Given the description of an element on the screen output the (x, y) to click on. 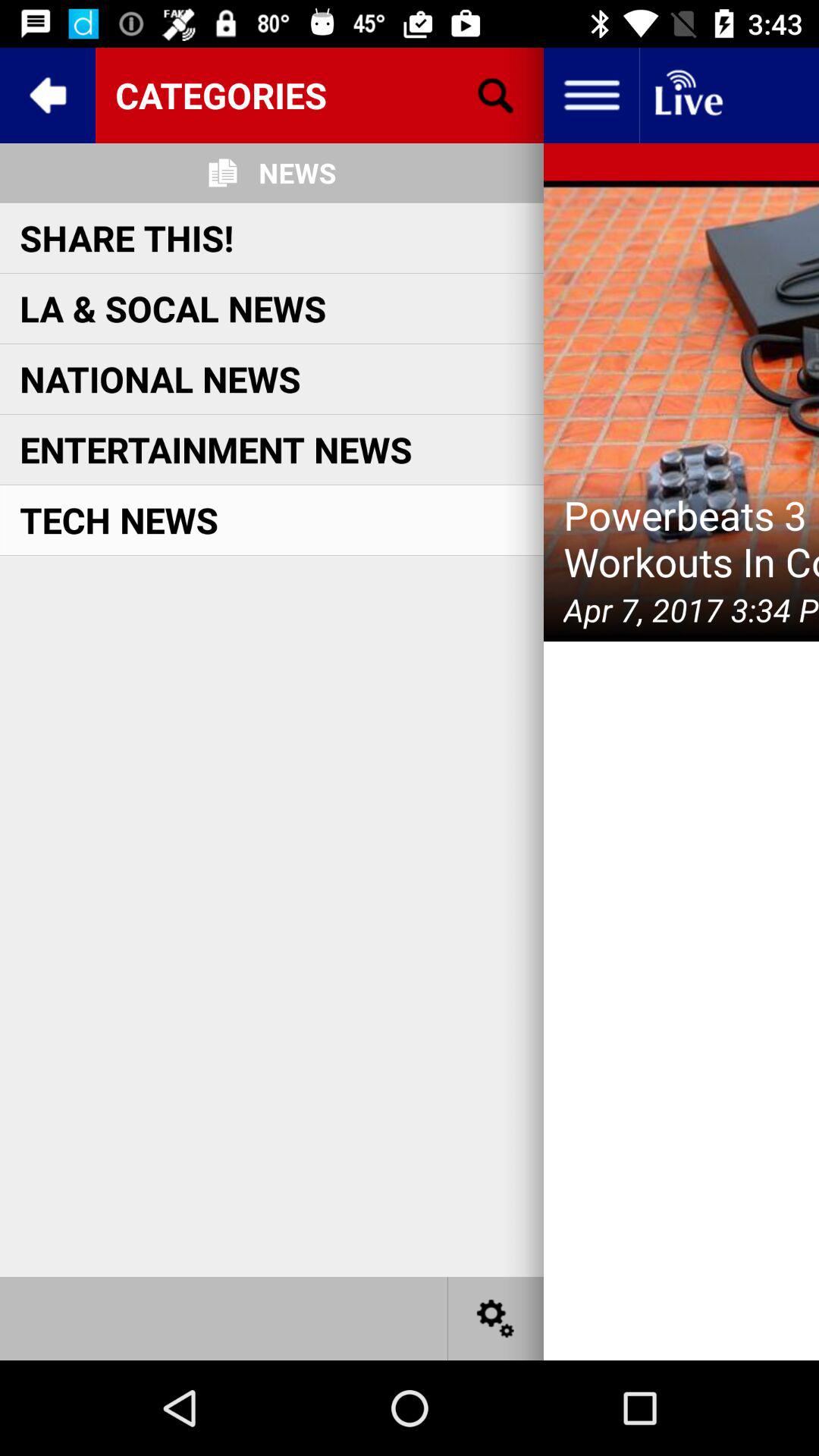
scroll until categories icon (319, 95)
